Given the description of an element on the screen output the (x, y) to click on. 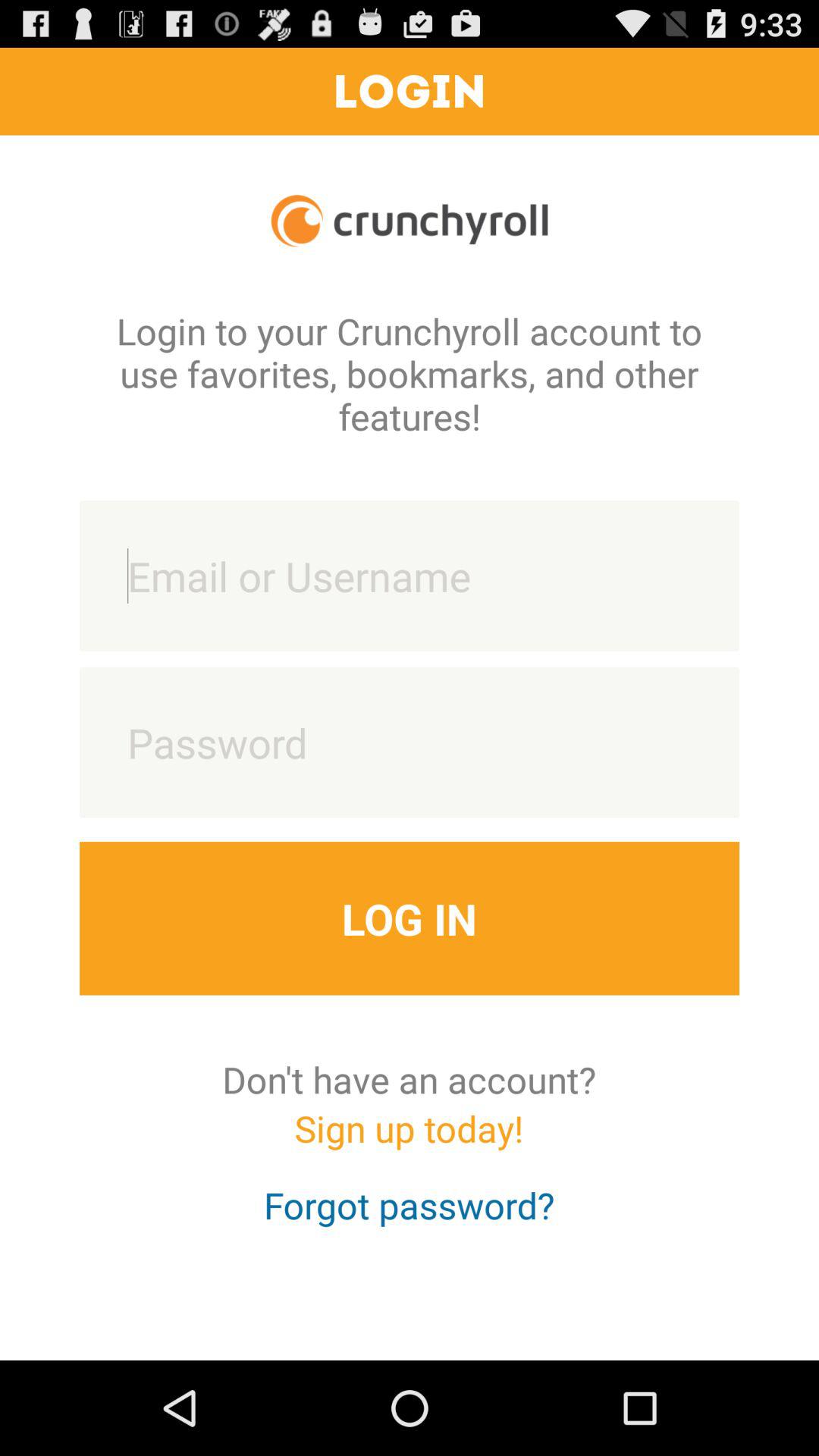
click the app below don t have icon (408, 1141)
